Given the description of an element on the screen output the (x, y) to click on. 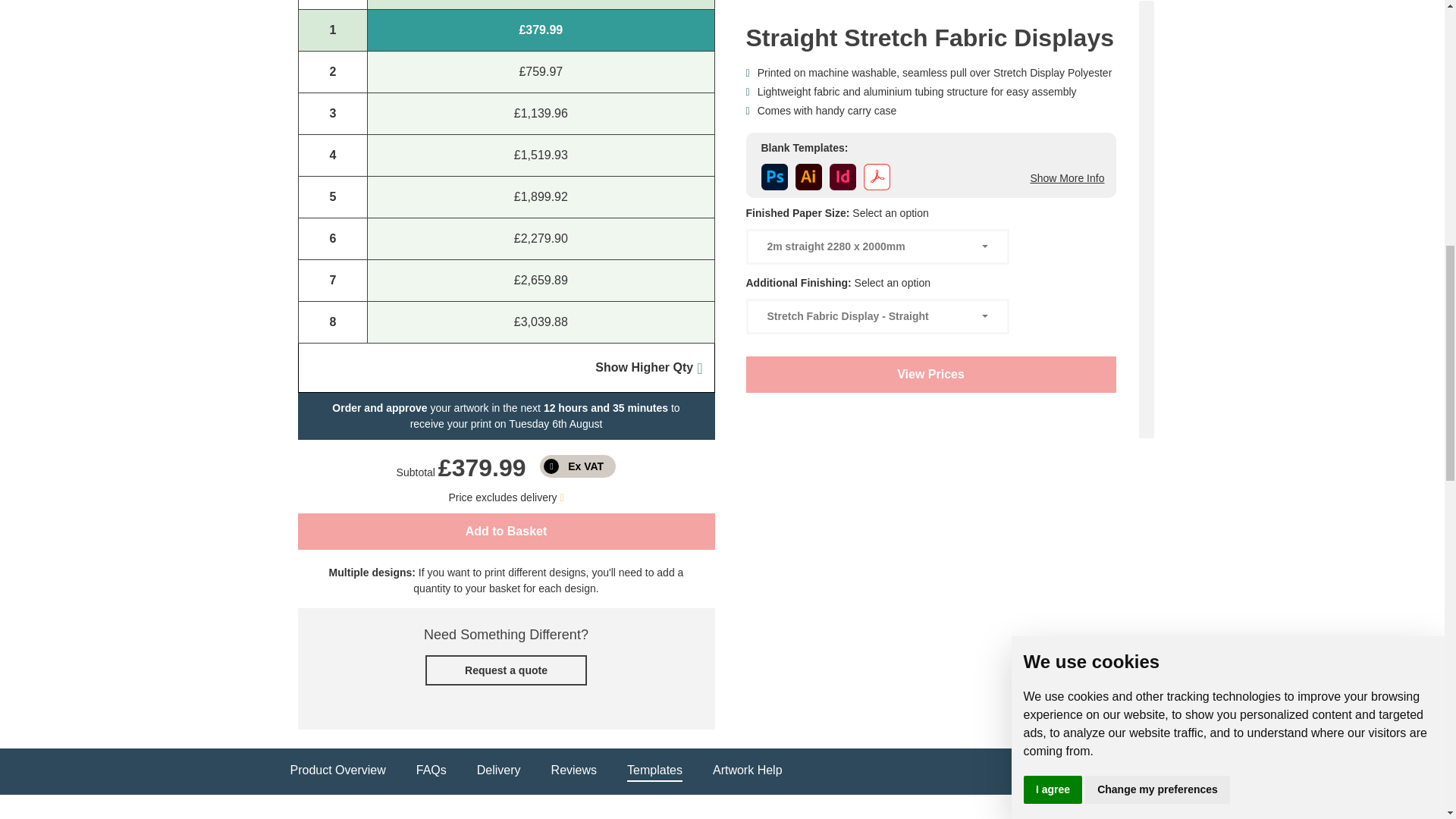
on (577, 466)
